Given the description of an element on the screen output the (x, y) to click on. 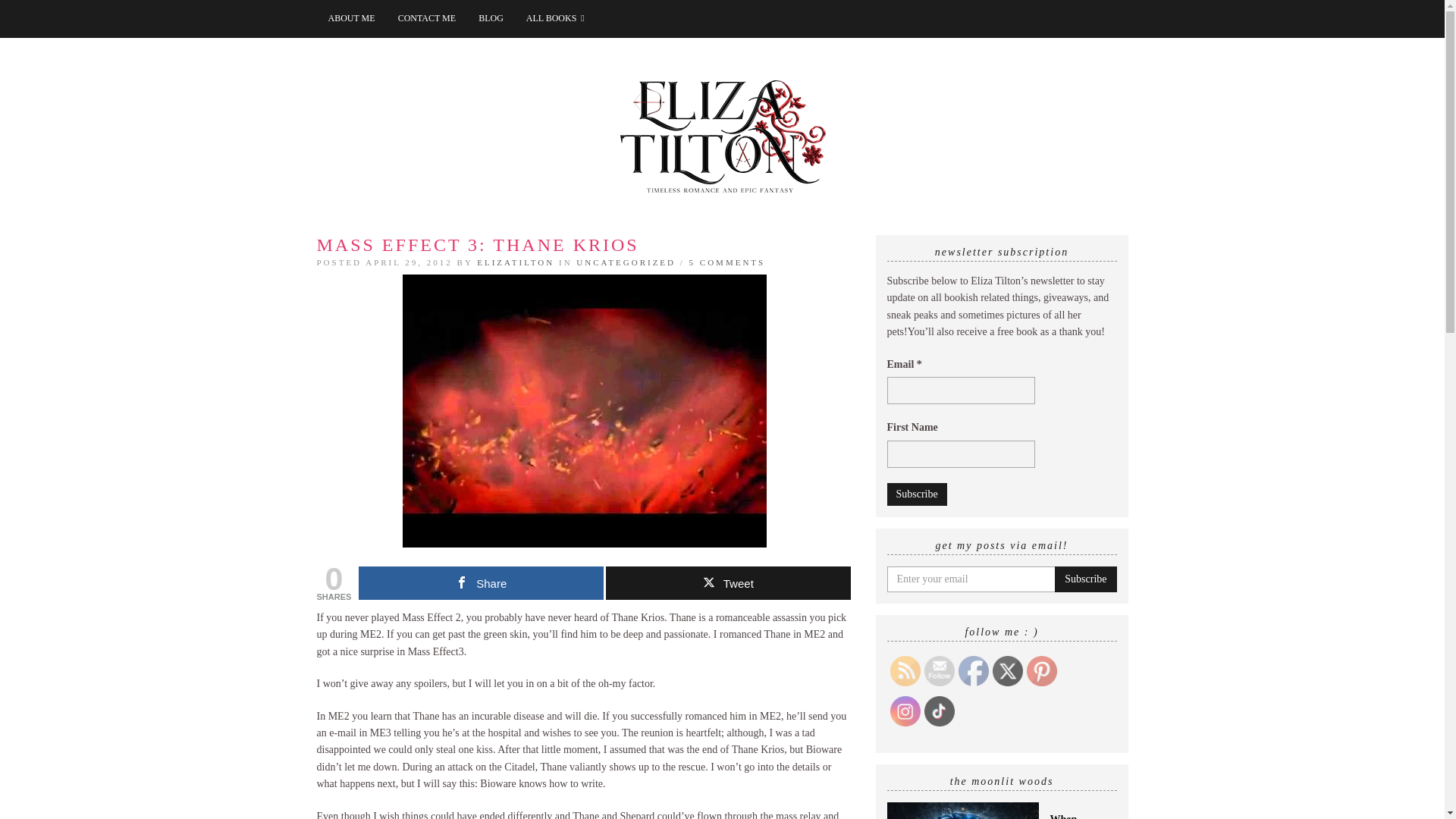
Facebook (973, 671)
Tweet (727, 582)
Follow by Email (938, 671)
View all posts in Uncategorized (625, 261)
Subscribe (916, 494)
ELIZATILTON (515, 261)
ABOUT ME (352, 18)
5 COMMENTS (726, 261)
Twitter (1006, 671)
RSS (904, 671)
Subscribe (1085, 579)
BLOG (491, 18)
UNCATEGORIZED (625, 261)
CONTACT ME (427, 18)
Share (481, 582)
